Given the description of an element on the screen output the (x, y) to click on. 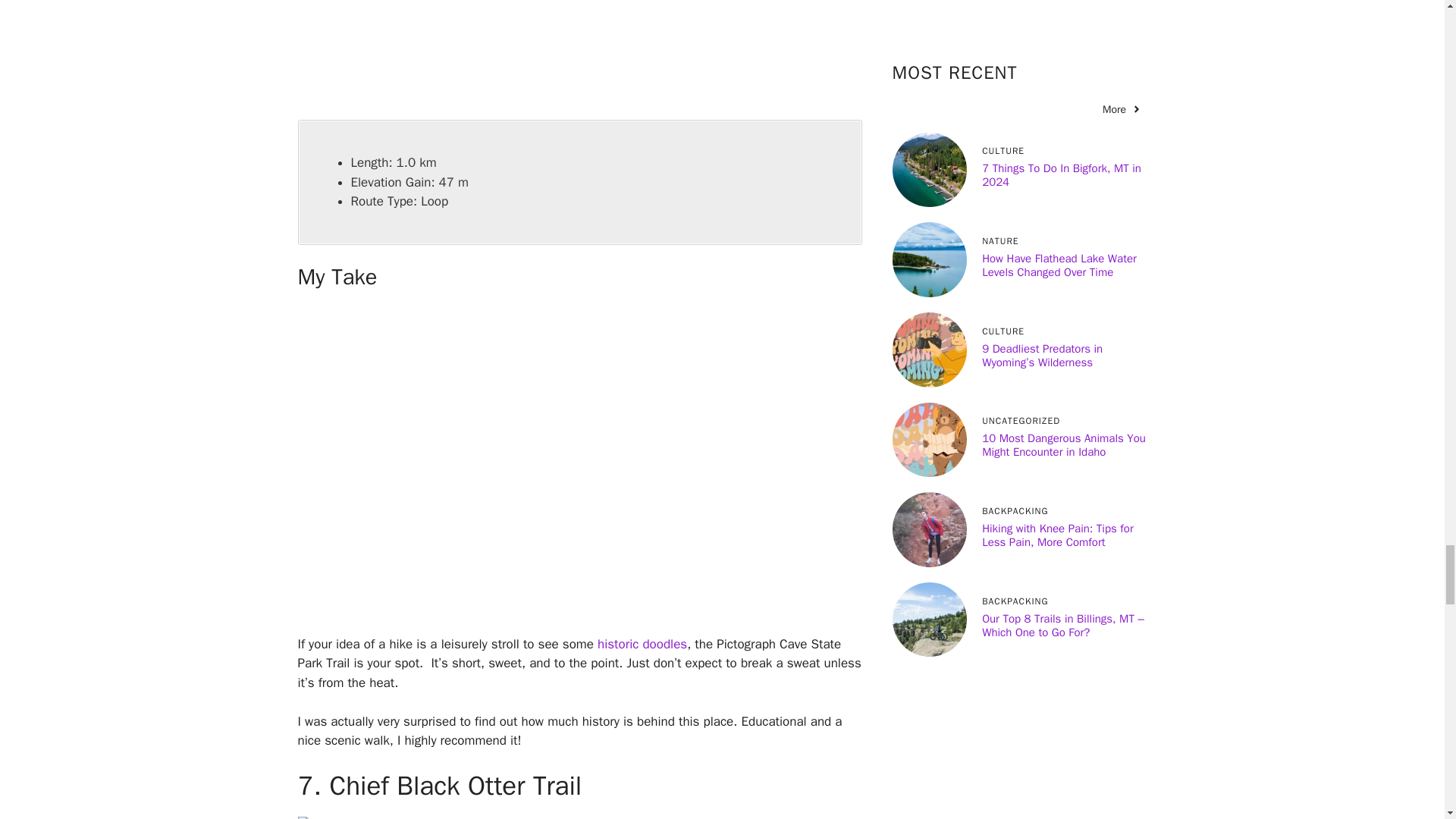
historic doodles (641, 643)
